Given the description of an element on the screen output the (x, y) to click on. 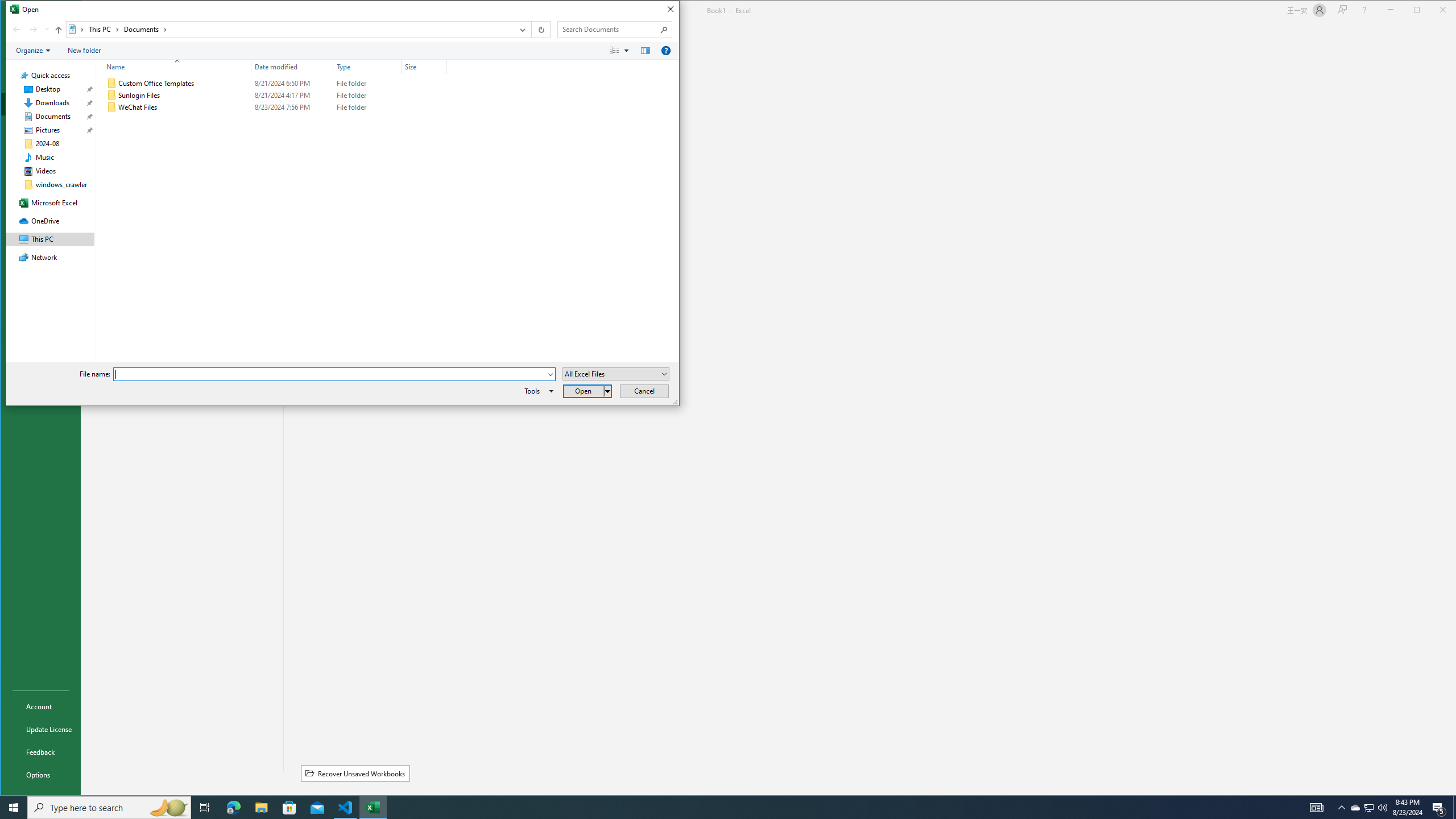
&Help (666, 50)
Q2790: 100% (1382, 807)
Task View (204, 807)
Address: Documents (289, 29)
Type here to search (108, 807)
Class: UIImage (1368, 807)
Custom Office Templates (111, 107)
Microsoft Store (274, 83)
File name: (289, 807)
Type (334, 373)
Show desktop (367, 66)
Open (1454, 807)
Forward (Alt + Right Arrow) (587, 391)
